Given the description of an element on the screen output the (x, y) to click on. 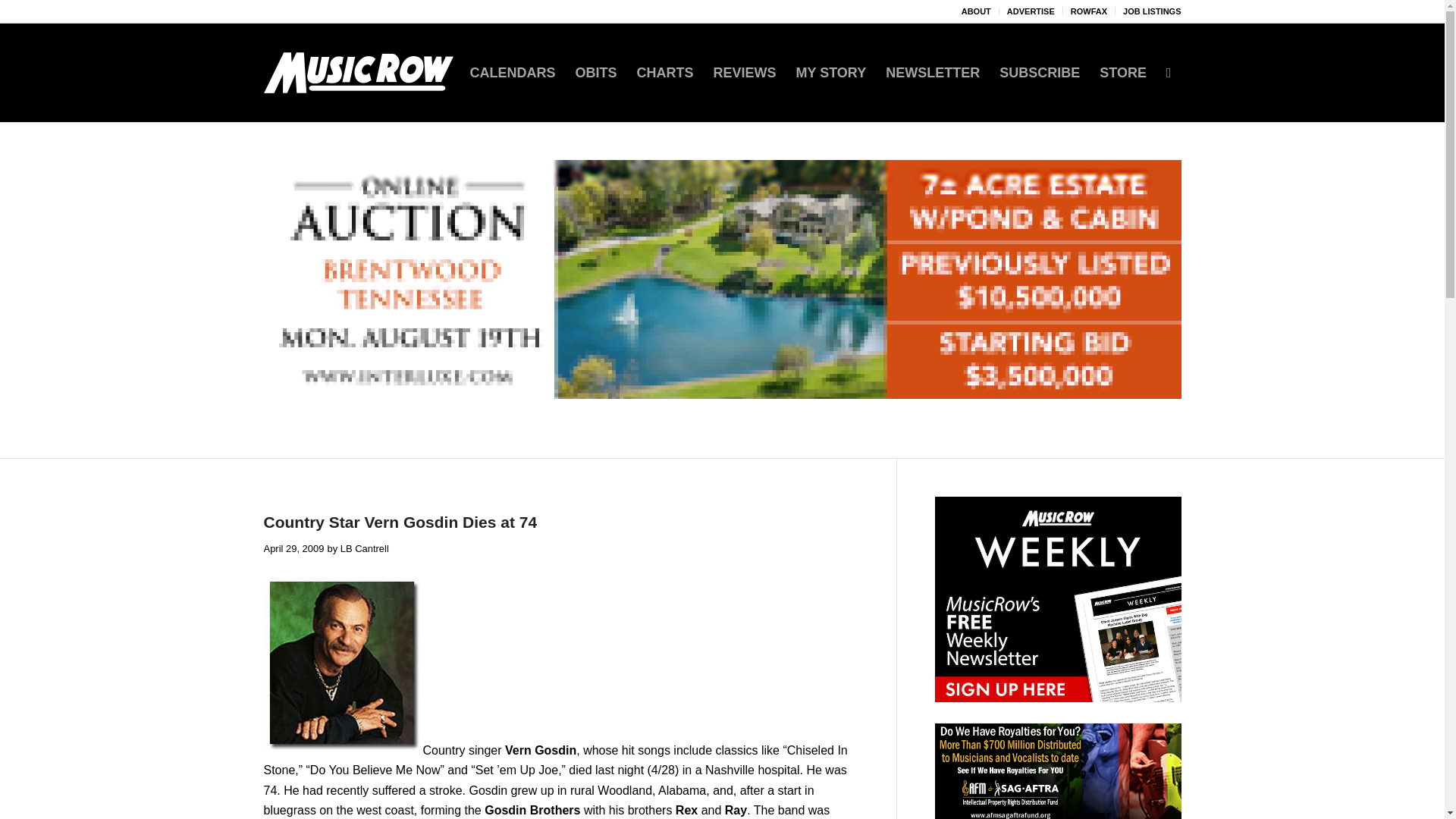
SUBSCRIBE (1039, 72)
MusicRow-header-logo-Mar19B (357, 72)
ADVERTISE (1030, 11)
NEWSLETTER (933, 72)
MY STORY (831, 72)
Posts by LB Cantrell (364, 548)
vern-gosdin (343, 664)
CALENDARS (512, 72)
LB Cantrell (364, 548)
ABOUT (975, 11)
JOB LISTINGS (1151, 11)
ROWFAX (1088, 11)
